Given the description of an element on the screen output the (x, y) to click on. 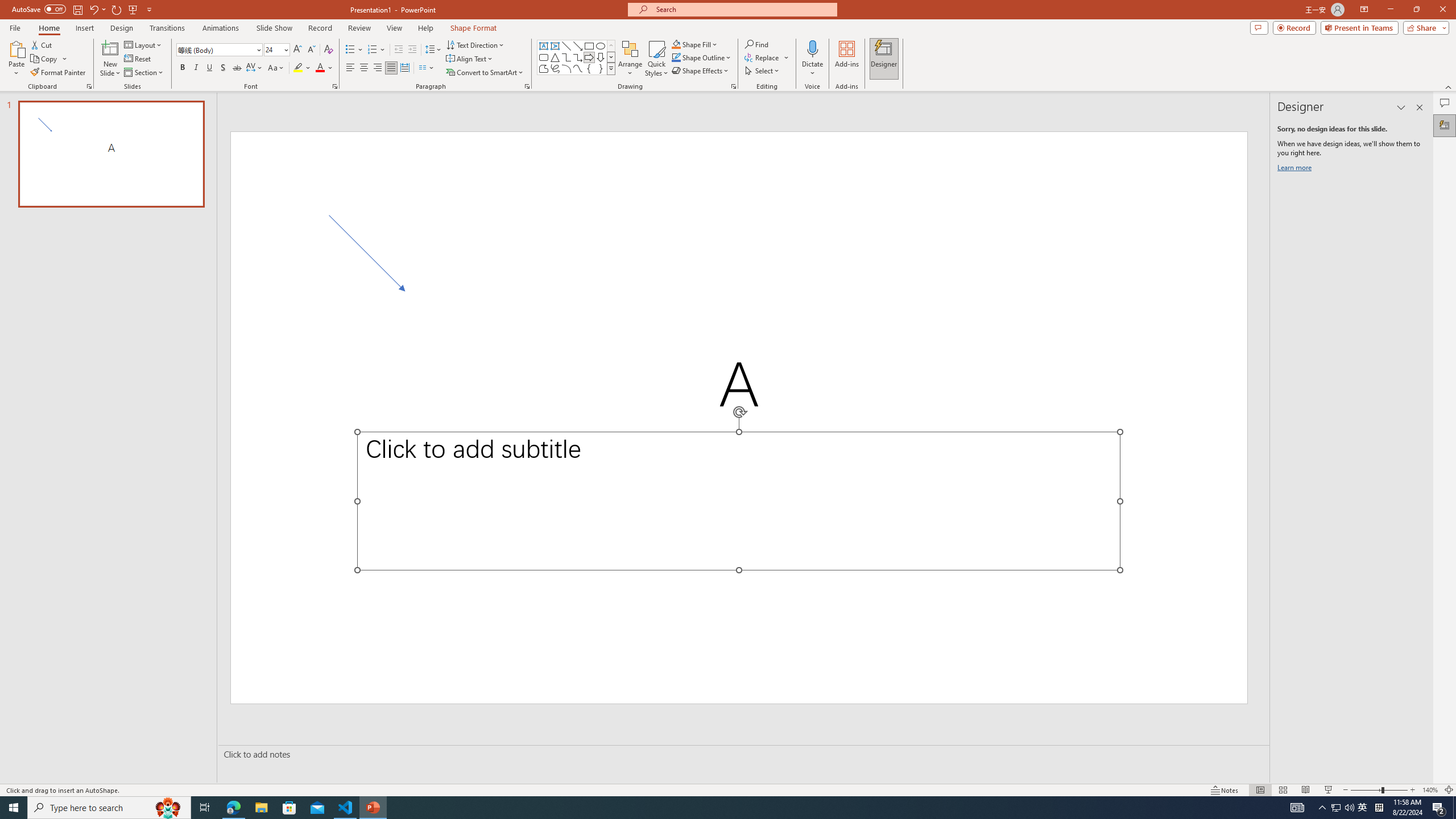
Learn more (1295, 169)
